Given the description of an element on the screen output the (x, y) to click on. 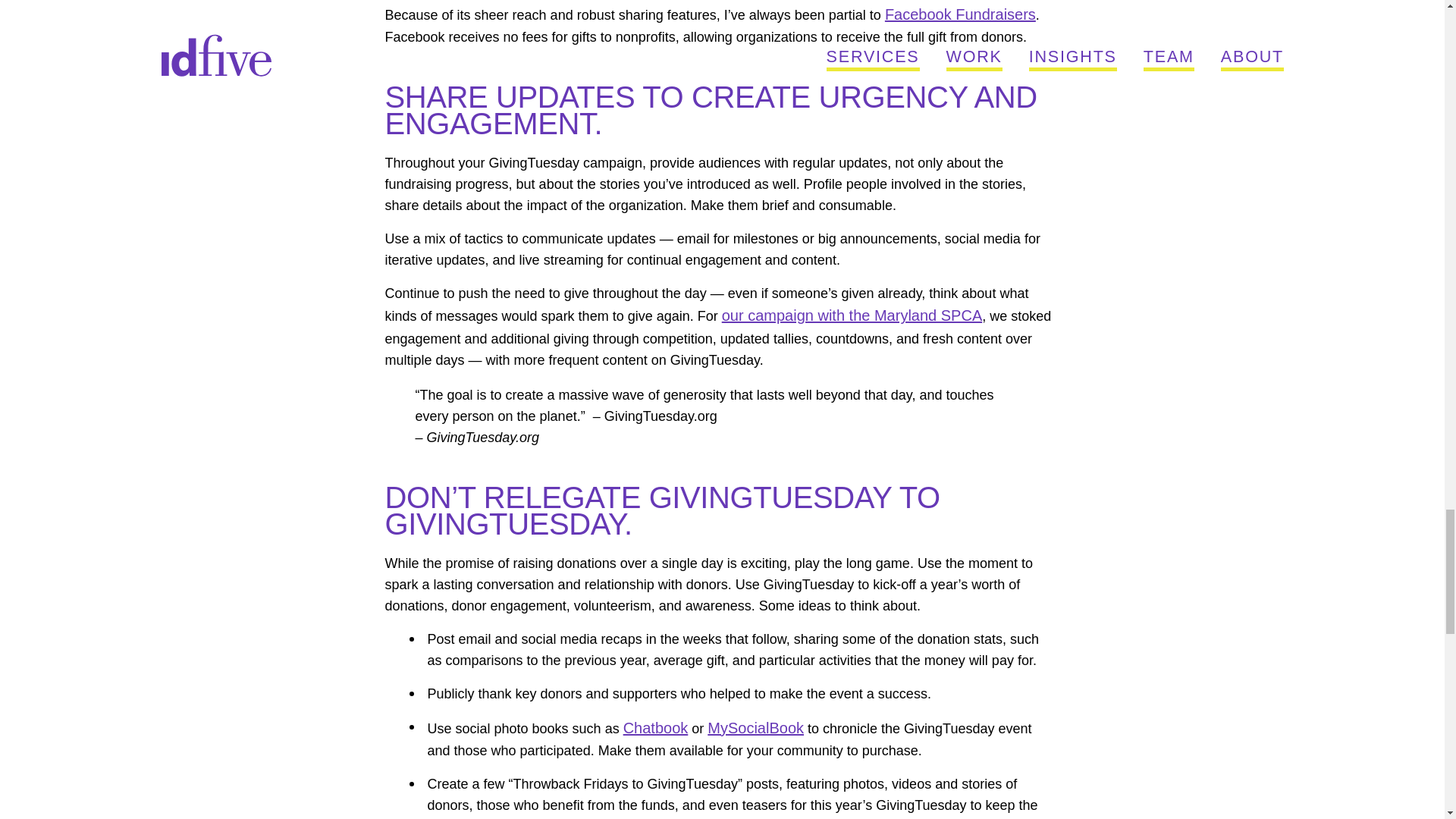
Facebook Fundraisers (960, 13)
our campaign with the Maryland SPCA (852, 315)
Chatbook (655, 727)
MySocialBook (755, 727)
